Given the description of an element on the screen output the (x, y) to click on. 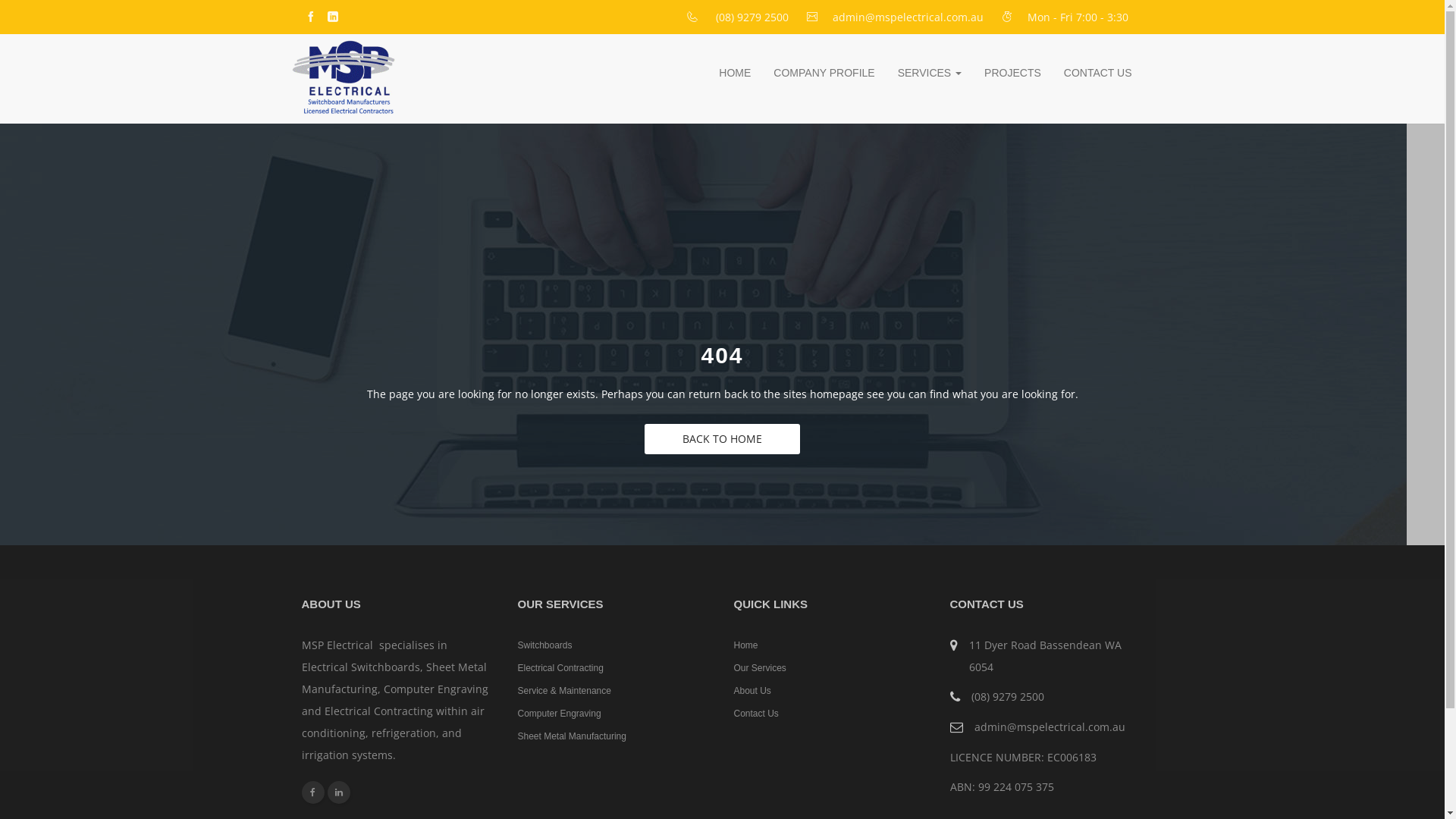
Facebook Element type: hover (312, 792)
Switchboards Element type: text (544, 644)
SERVICES Element type: text (929, 72)
Sheet Metal Manufacturing Element type: text (571, 735)
Service & Maintenance Element type: text (563, 690)
BACK TO HOME Element type: text (722, 438)
Contact Us Element type: text (756, 713)
CONTACT US Element type: text (1097, 72)
PROJECTS Element type: text (1012, 72)
Electrical Contracting Element type: text (559, 667)
Home Element type: text (746, 644)
About Us Element type: text (752, 690)
Linkedin Element type: hover (338, 792)
COMPANY PROFILE Element type: text (823, 72)
Computer Engraving Element type: text (558, 713)
HOME Element type: text (734, 72)
Our Services Element type: text (760, 667)
